Given the description of an element on the screen output the (x, y) to click on. 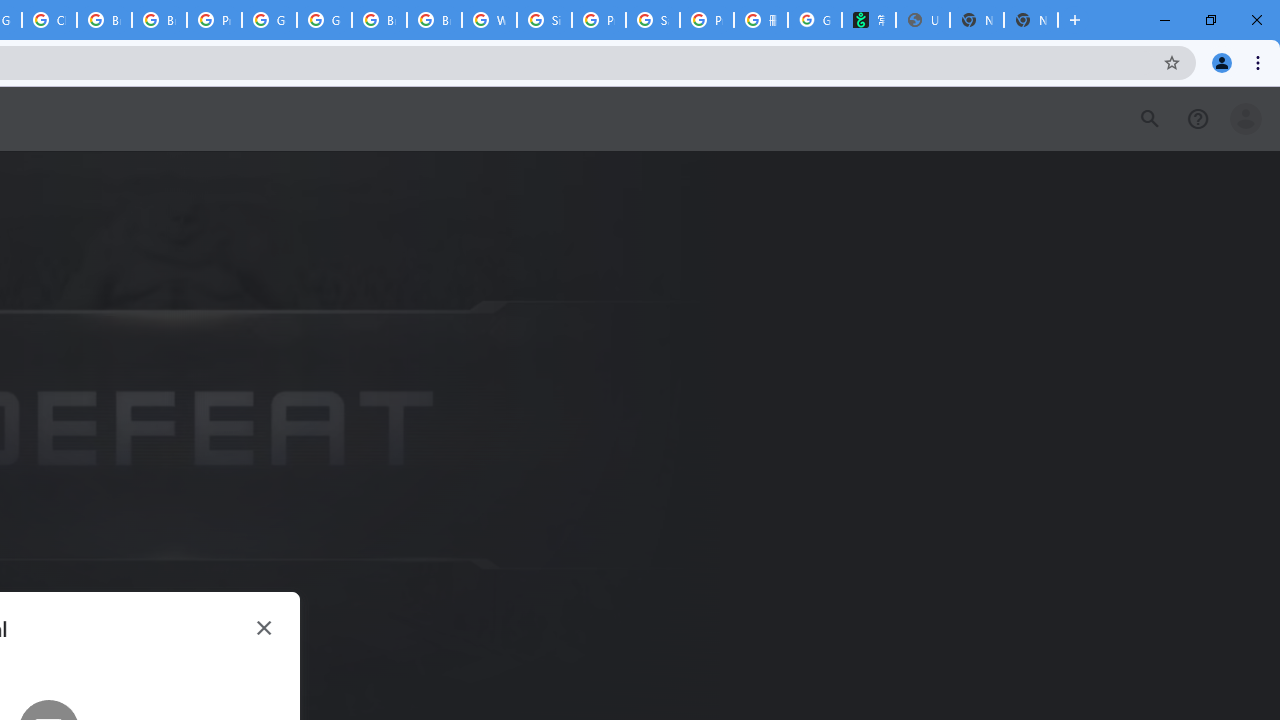
Browse Chrome as a guest - Computer - Google Chrome Help (103, 20)
Google Cloud Platform (268, 20)
Google Cloud Platform (324, 20)
Browse Chrome as a guest - Computer - Google Chrome Help (379, 20)
New Tab (1030, 20)
